Given the description of an element on the screen output the (x, y) to click on. 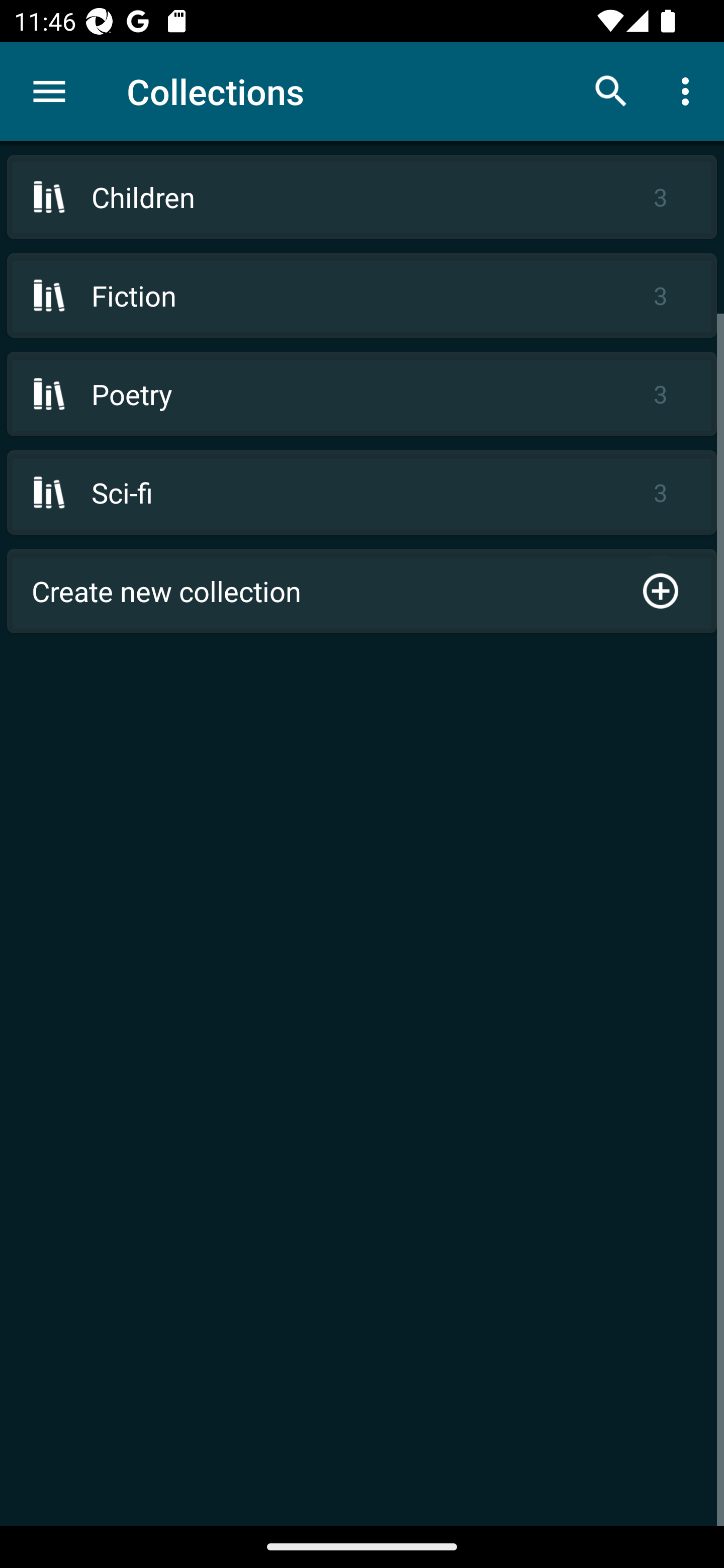
Menu (49, 91)
Search books & documents (611, 90)
More options (688, 90)
Children 3 (361, 197)
Fiction 3 (361, 295)
Poetry 3 (361, 393)
Sci-fi 3 (361, 492)
Create new collection (361, 590)
